Given the description of an element on the screen output the (x, y) to click on. 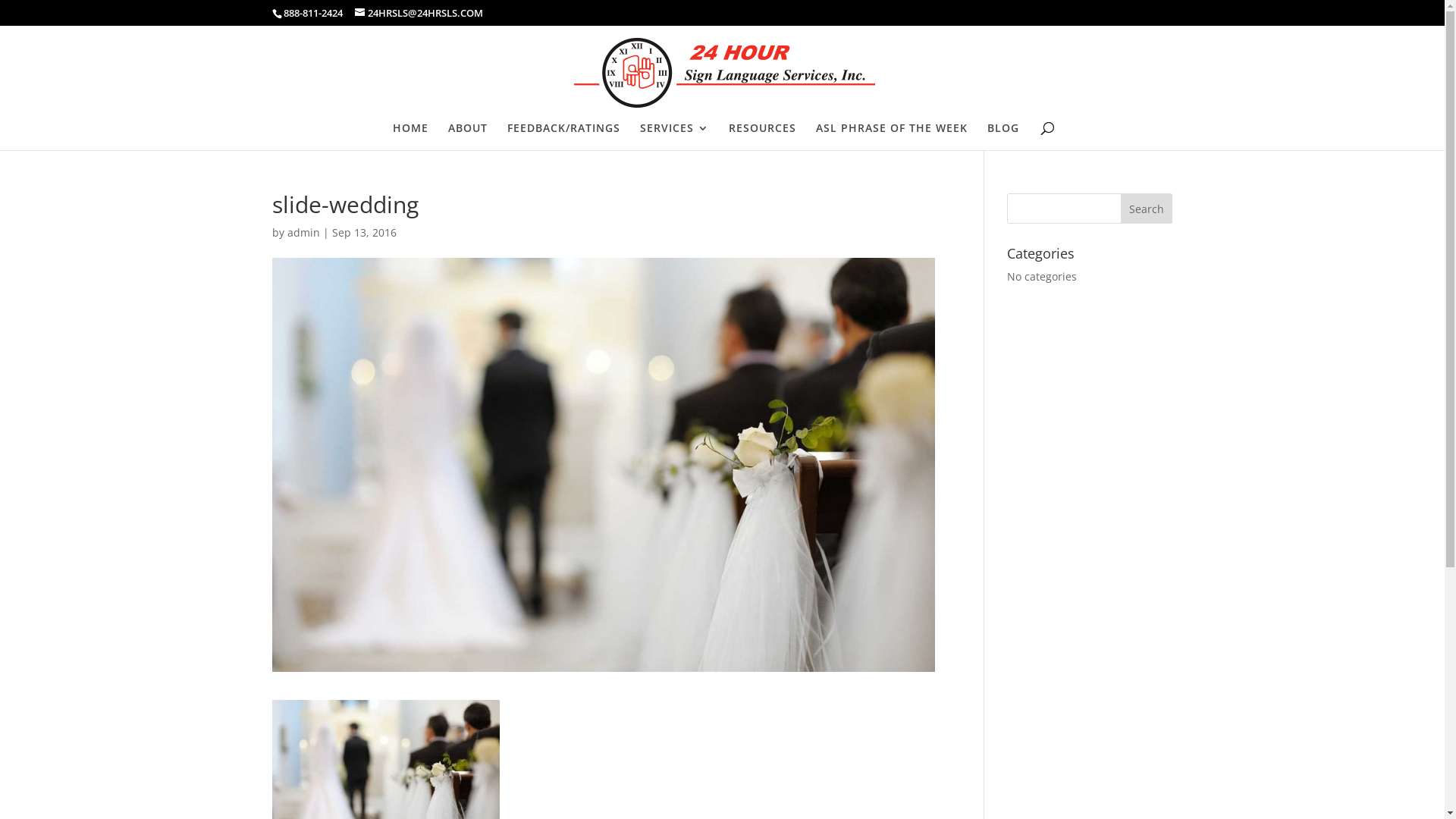
FEEDBACK/RATINGS Element type: text (562, 136)
ASL PHRASE OF THE WEEK Element type: text (891, 136)
RESOURCES Element type: text (761, 136)
SERVICES Element type: text (674, 136)
Search Element type: text (1146, 208)
ABOUT Element type: text (466, 136)
BLOG Element type: text (1003, 136)
24HRSLS@24HRSLS.COM Element type: text (418, 12)
admin Element type: text (303, 232)
HOME Element type: text (410, 136)
